Given the description of an element on the screen output the (x, y) to click on. 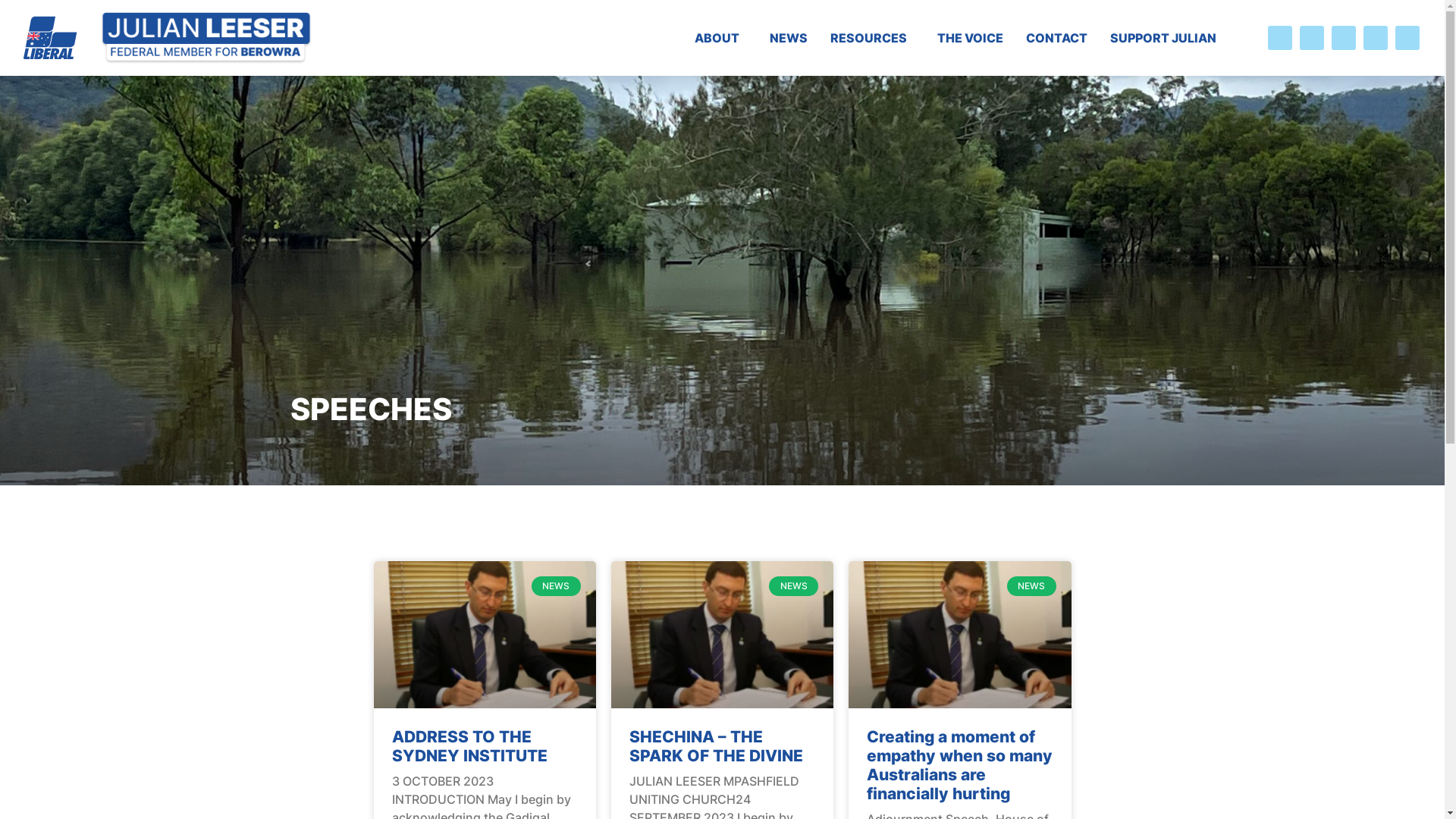
ABOUT Element type: text (720, 37)
NEWS Element type: text (788, 37)
RESOURCES Element type: text (872, 37)
SUPPORT JULIAN Element type: text (1162, 37)
CONTACT Element type: text (1056, 37)
THE VOICE Element type: text (969, 37)
ADDRESS TO THE SYDNEY INSTITUTE Element type: text (468, 746)
